Given the description of an element on the screen output the (x, y) to click on. 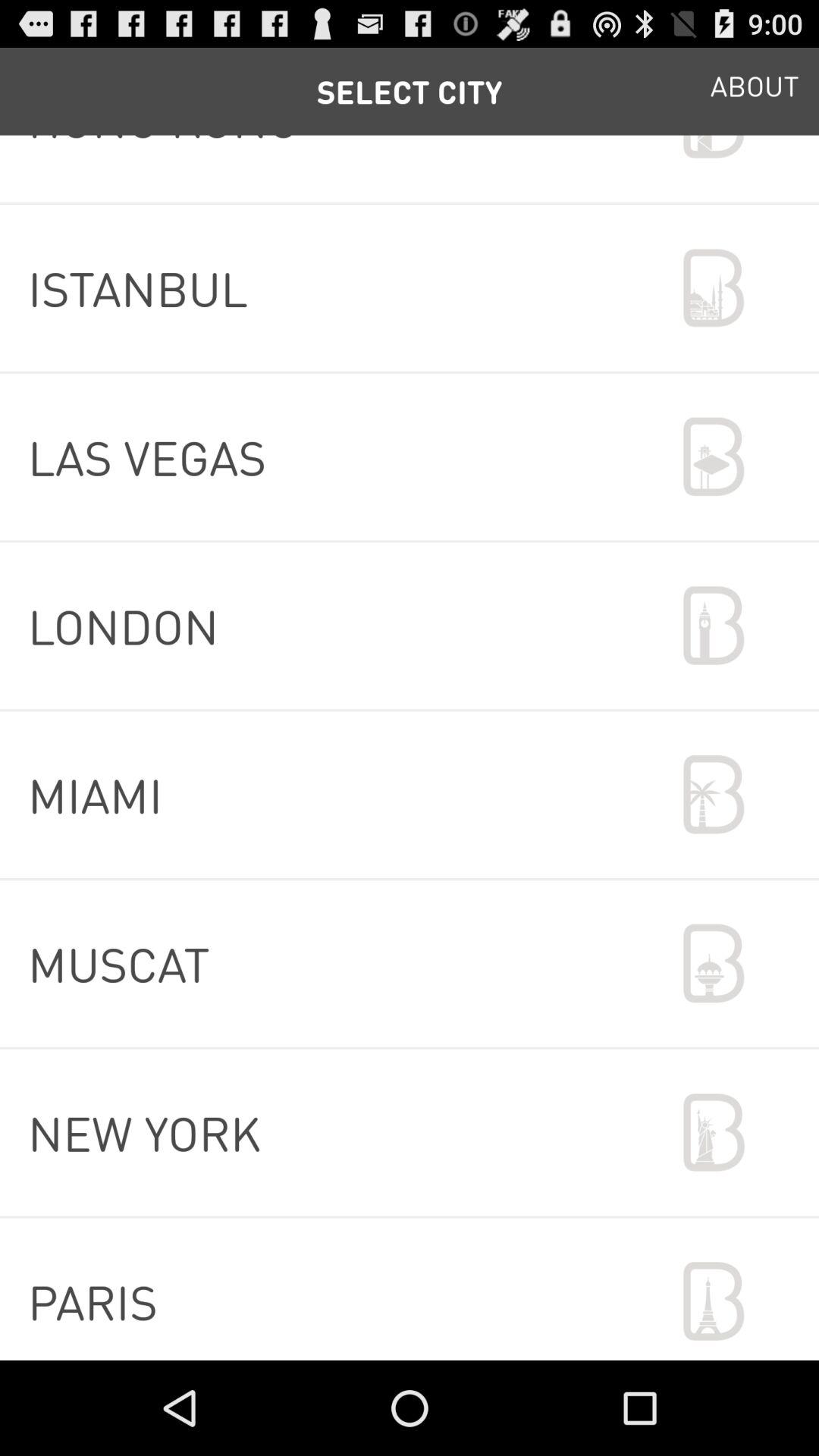
press app at the top right corner (754, 91)
